Given the description of an element on the screen output the (x, y) to click on. 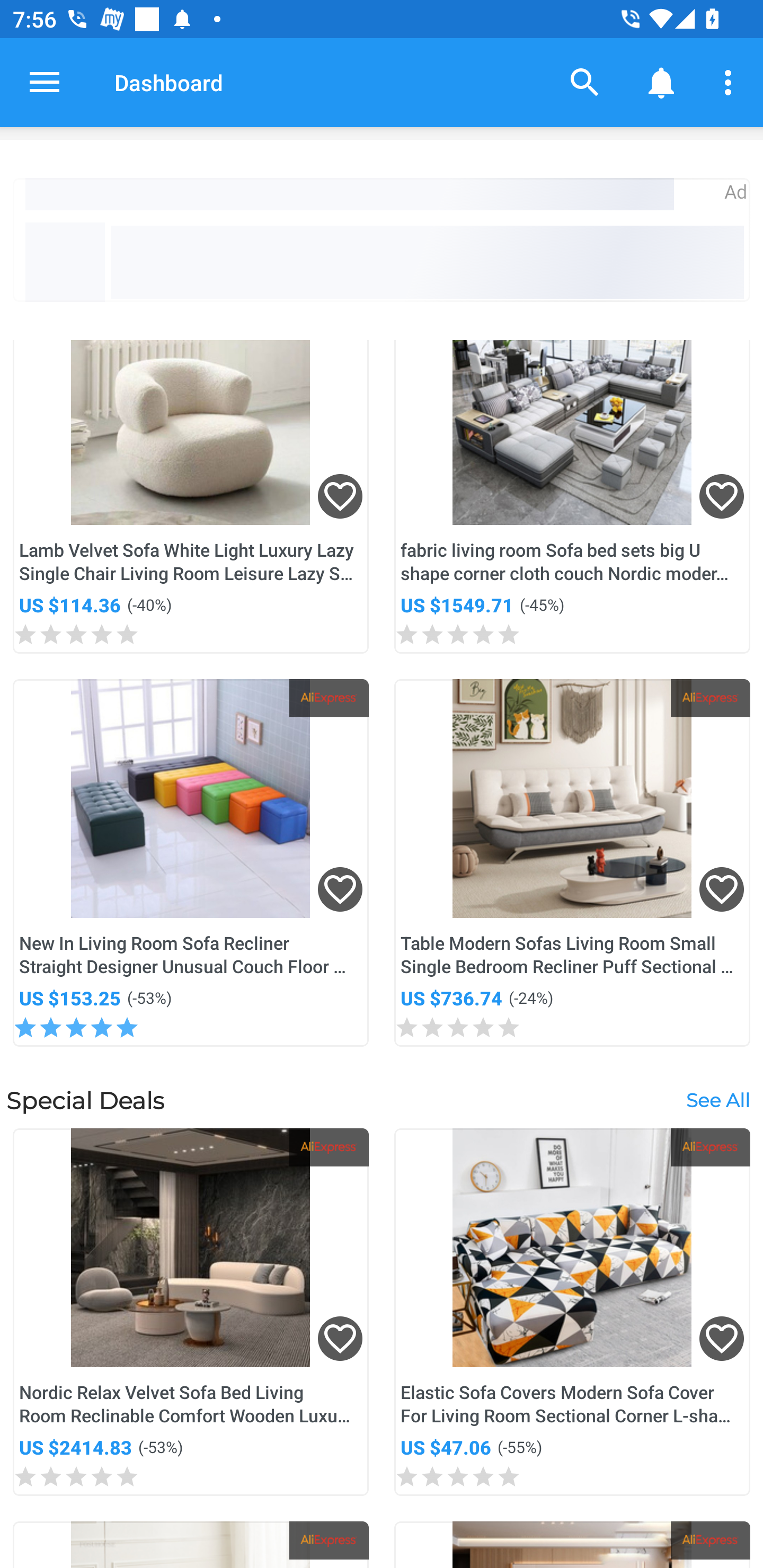
Open navigation drawer (44, 82)
Search (585, 81)
More options (731, 81)
See All (717, 1099)
